Given the description of an element on the screen output the (x, y) to click on. 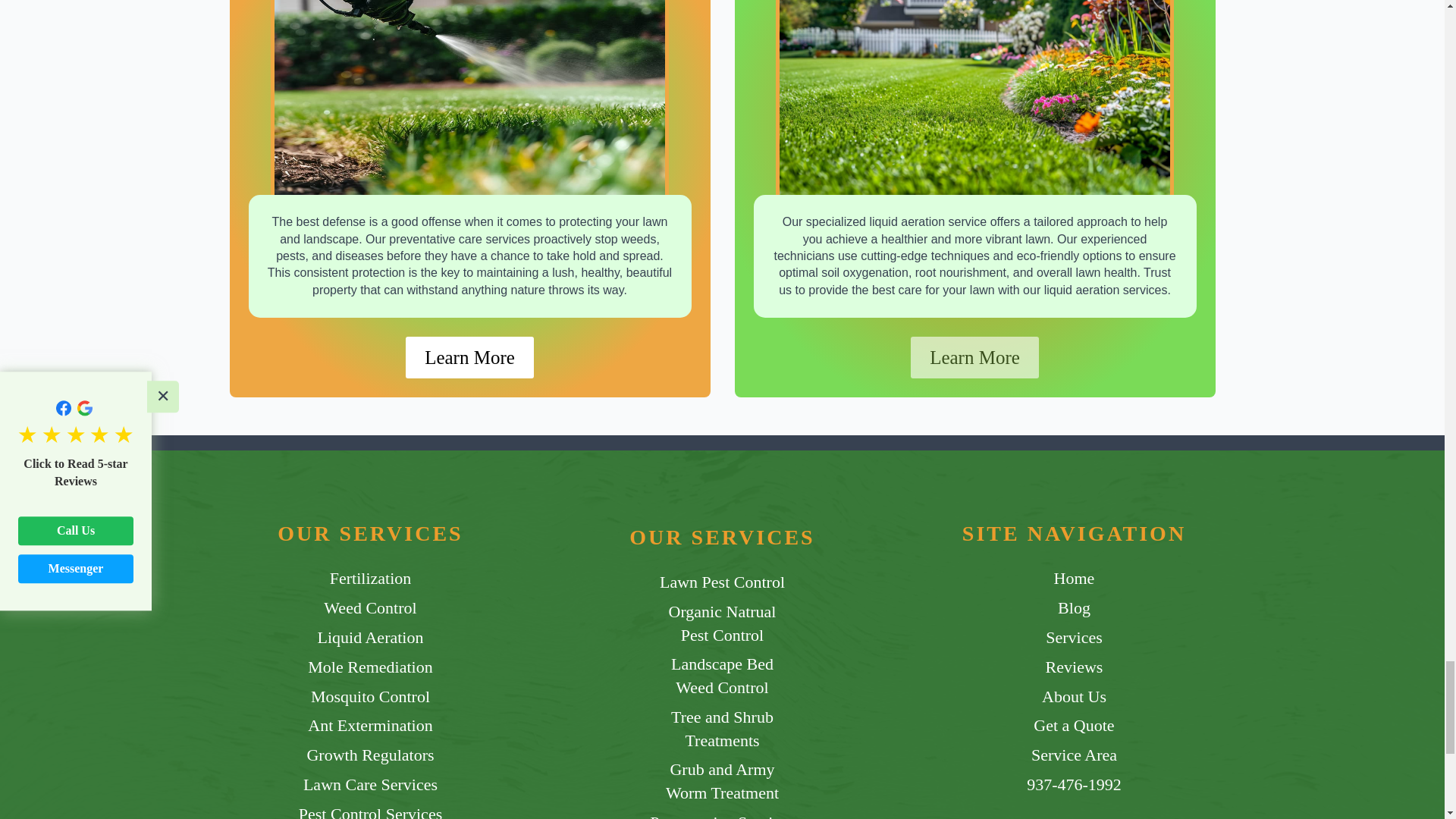
Weed Control (369, 608)
Learn More (975, 357)
Learn More (470, 357)
Fertilization (371, 578)
